Given the description of an element on the screen output the (x, y) to click on. 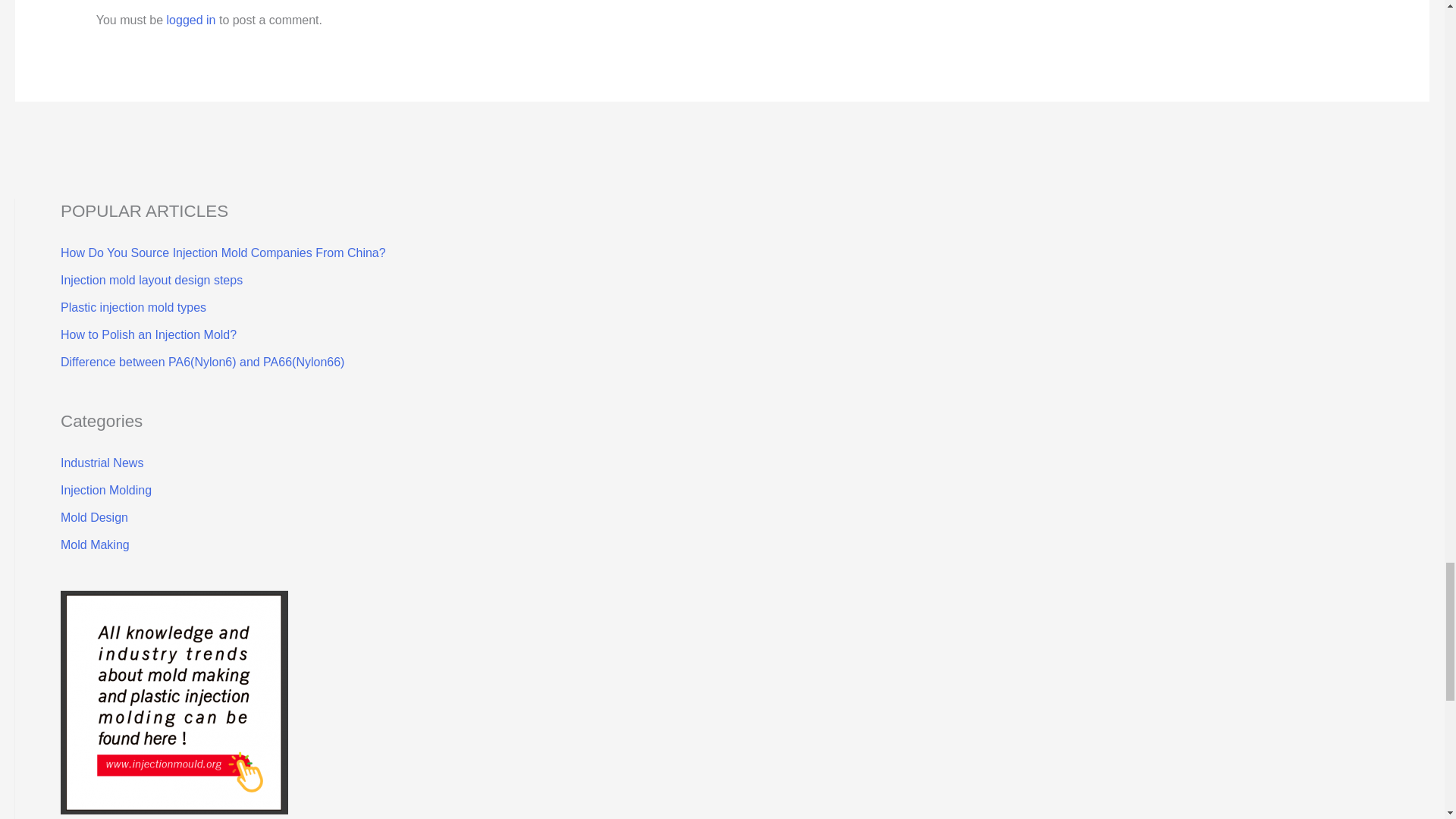
Injection mold layout design steps (152, 279)
How Do You Source Injection Mold Companies From China? (223, 252)
Injection Molding (106, 490)
Mold Making (95, 544)
logged in (191, 19)
How to Polish an Injection Mold? (148, 334)
Industrial News (101, 462)
Plastic injection mold types (133, 307)
Mold Design (94, 517)
